Given the description of an element on the screen output the (x, y) to click on. 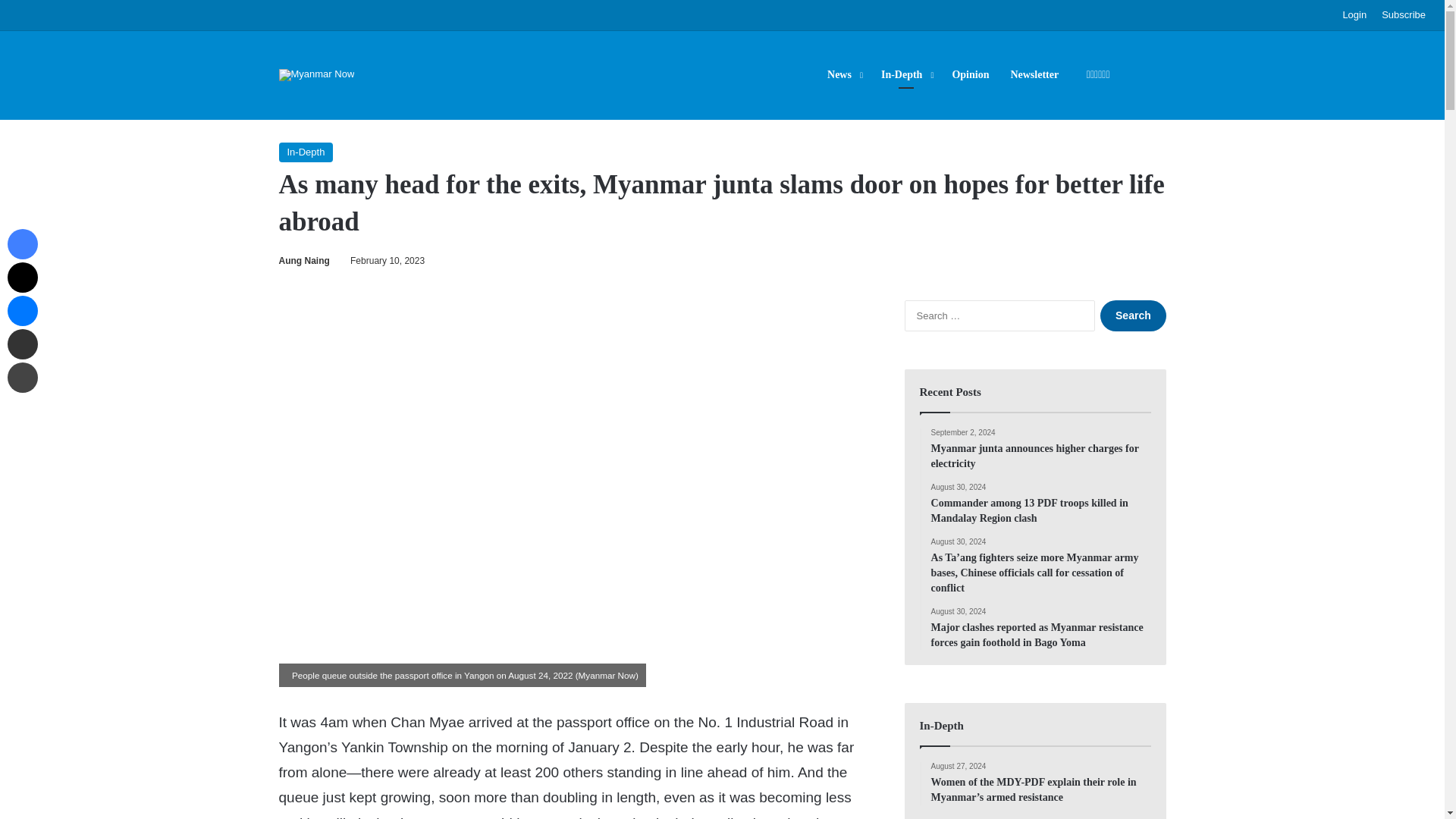
Facebook (22, 244)
Myanmar Now (317, 74)
In-Depth (905, 74)
Login (1354, 15)
Search (1133, 315)
Share via Email (22, 344)
Newsletter (1033, 74)
Messenger (22, 310)
Aung Naing (304, 260)
Search (1133, 315)
